Given the description of an element on the screen output the (x, y) to click on. 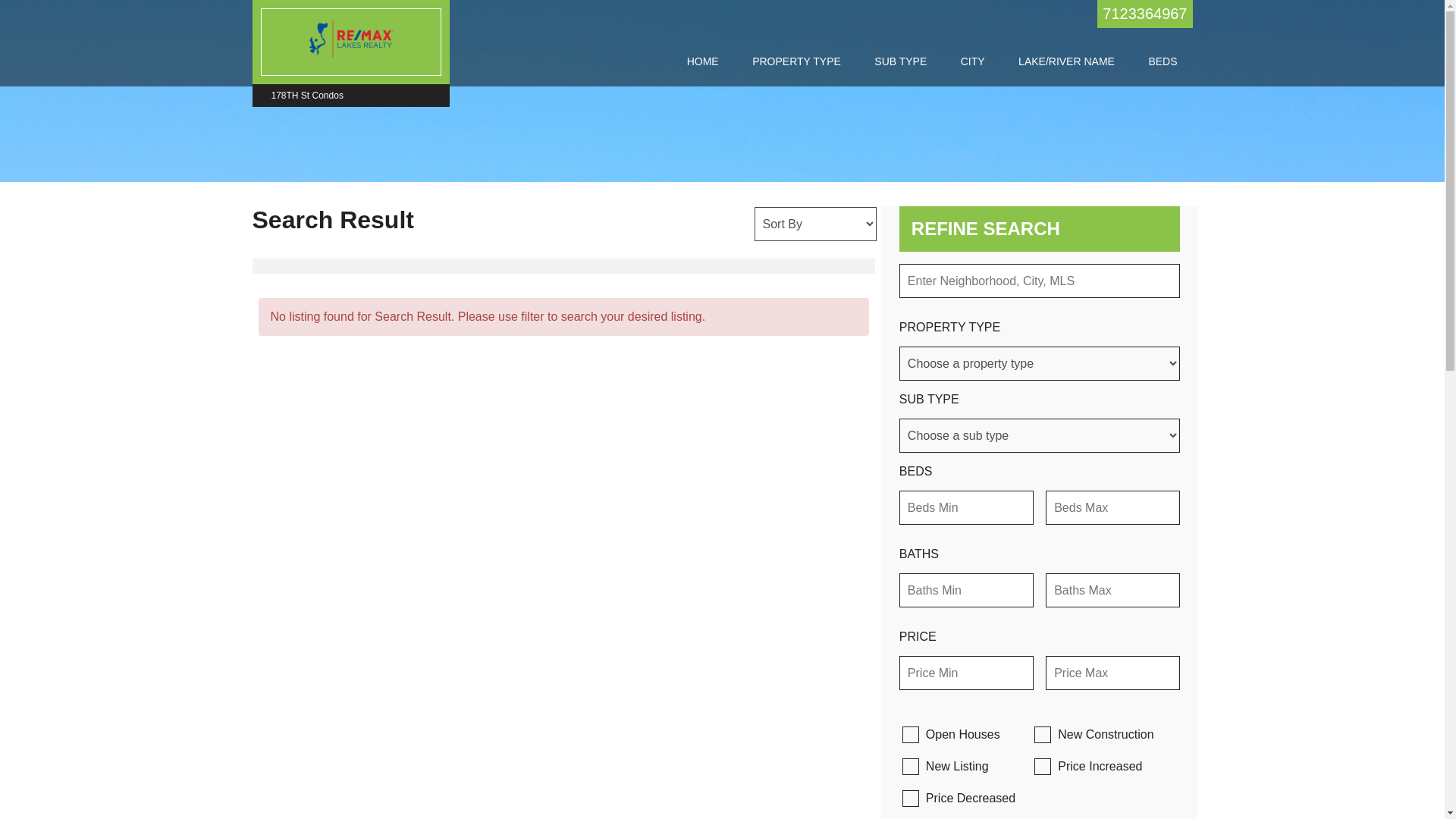
178th St Condos - 178TH St Condos Element type: hover (350, 38)
HOME Element type: text (702, 61)
